Given the description of an element on the screen output the (x, y) to click on. 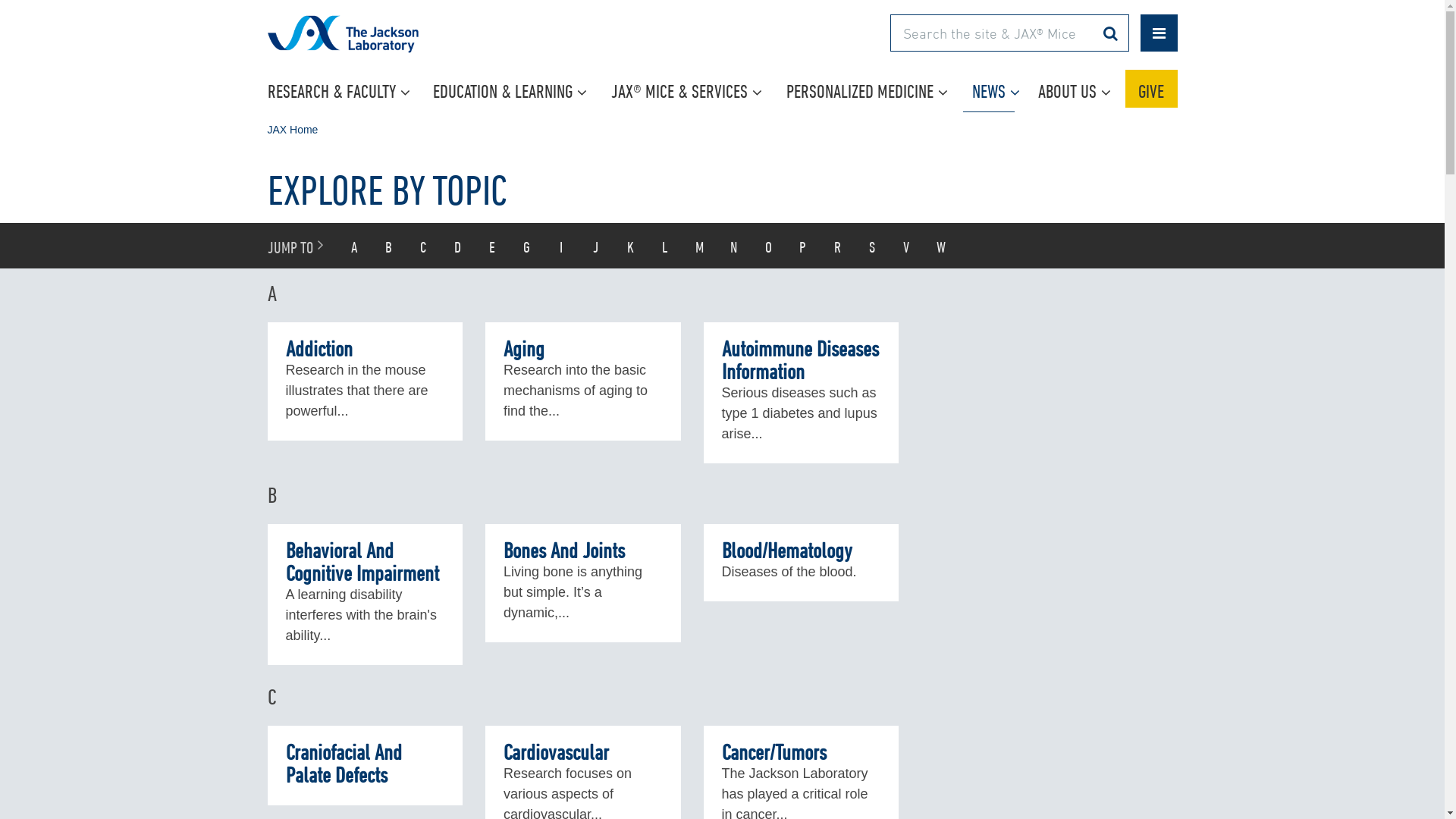
NEWS  Element type: text (996, 88)
N Element type: text (733, 245)
R Element type: text (837, 245)
O Element type: text (767, 245)
I Element type: text (561, 245)
A Element type: text (353, 245)
W Element type: text (940, 245)
Jackson Laboratory Element type: text (384, 44)
RESEARCH & FACULTY  Element type: text (340, 88)
L Element type: text (664, 245)
E Element type: text (491, 245)
P Element type: text (802, 245)
JAX Home Element type: text (291, 129)
B Element type: text (388, 245)
ABOUT US  Element type: text (1075, 88)
V Element type: text (905, 245)
C Element type: text (423, 245)
EDUCATION & LEARNING  Element type: text (512, 88)
JUMP TO Element type: text (296, 245)
D Element type: text (457, 245)
M Element type: text (699, 245)
S Element type: text (871, 245)
Blood/Hematology
Diseases of the blood. Element type: text (801, 562)
Craniofacial And Palate Defects Element type: text (364, 765)
G Element type: text (526, 245)
K Element type: text (629, 245)
PERSONALIZED MEDICINE  Element type: text (870, 88)
J Element type: text (595, 245)
GIVE Element type: text (1151, 88)
